Given the description of an element on the screen output the (x, y) to click on. 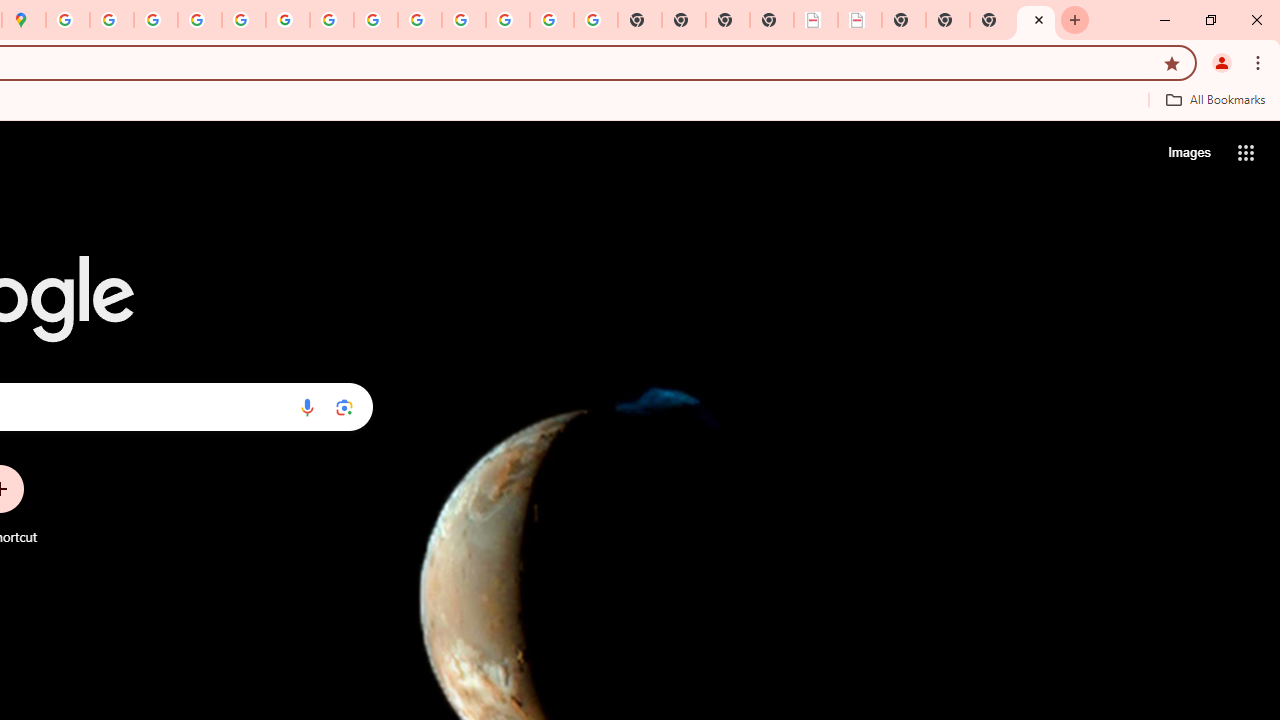
Google Images (595, 20)
BAE Systems Brasil | BAE Systems (859, 20)
New Tab (1035, 20)
